Given the description of an element on the screen output the (x, y) to click on. 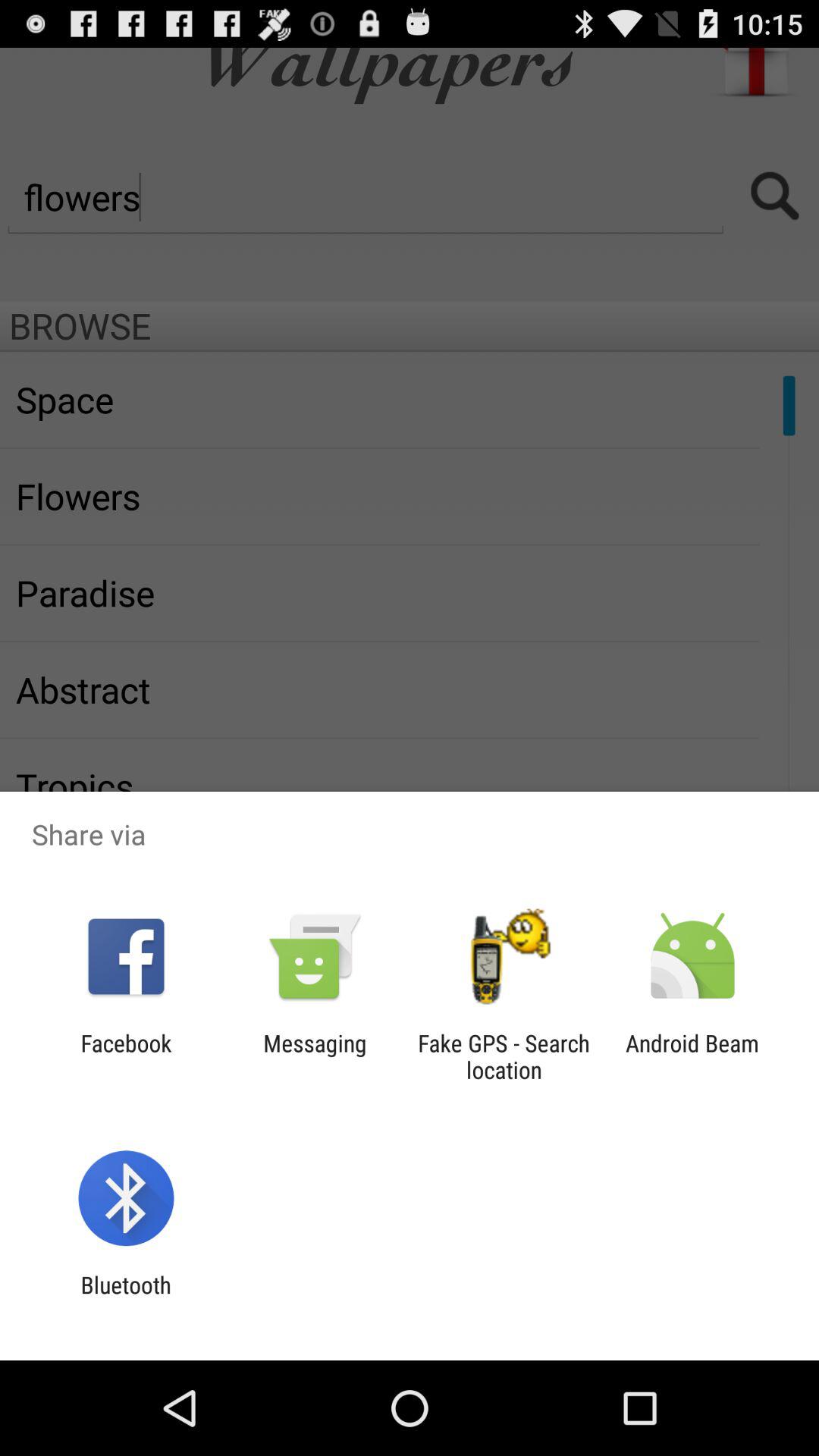
scroll until bluetooth (125, 1298)
